Given the description of an element on the screen output the (x, y) to click on. 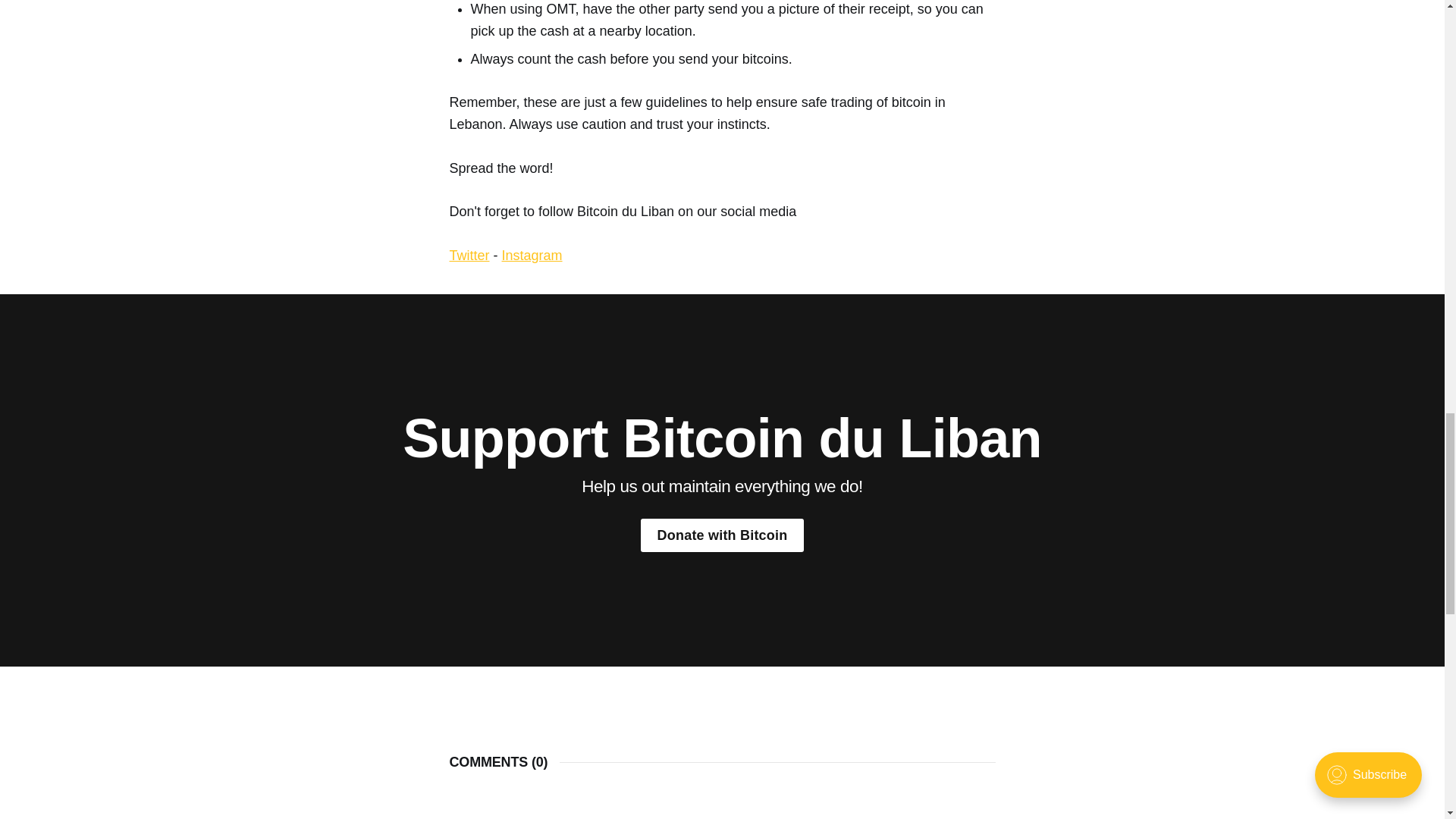
comments-frame (721, 812)
Twitter (468, 255)
Instagram (532, 255)
Donate with Bitcoin (721, 534)
